Given the description of an element on the screen output the (x, y) to click on. 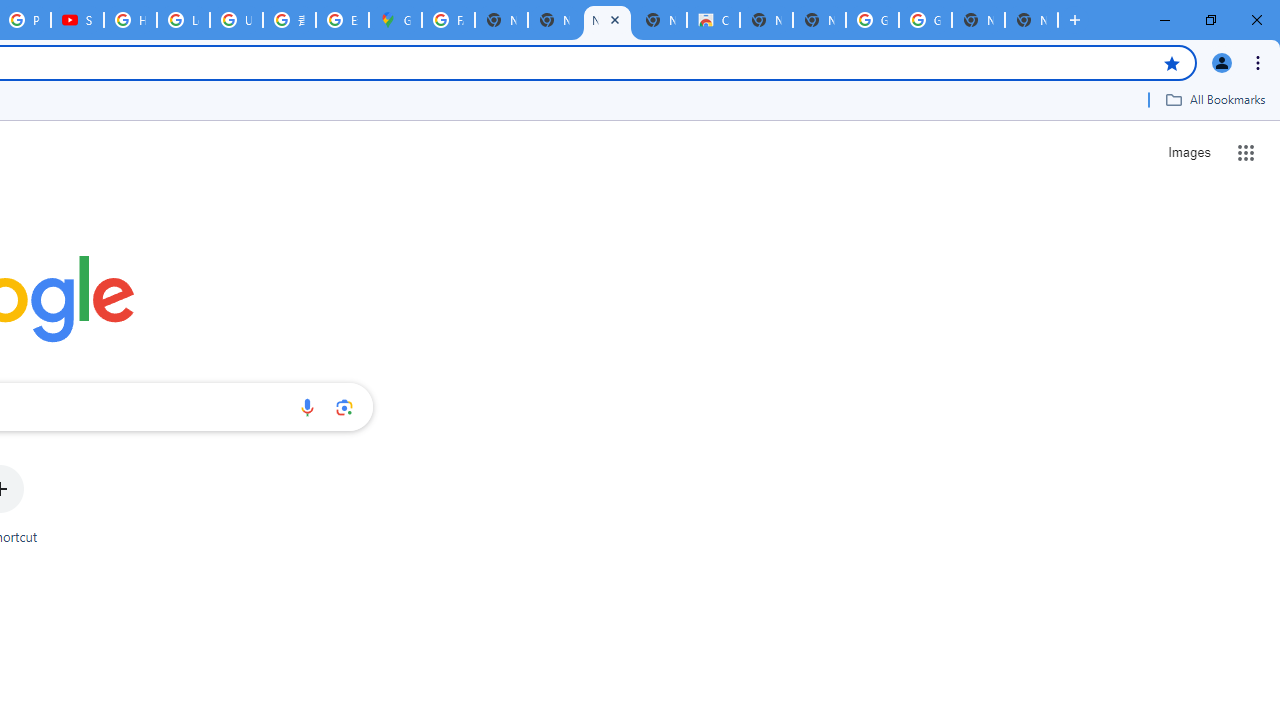
How Chrome protects your passwords - Google Chrome Help (130, 20)
Google Images (872, 20)
New Tab (1031, 20)
Google Maps (395, 20)
Subscriptions - YouTube (77, 20)
New Tab (819, 20)
